Given the description of an element on the screen output the (x, y) to click on. 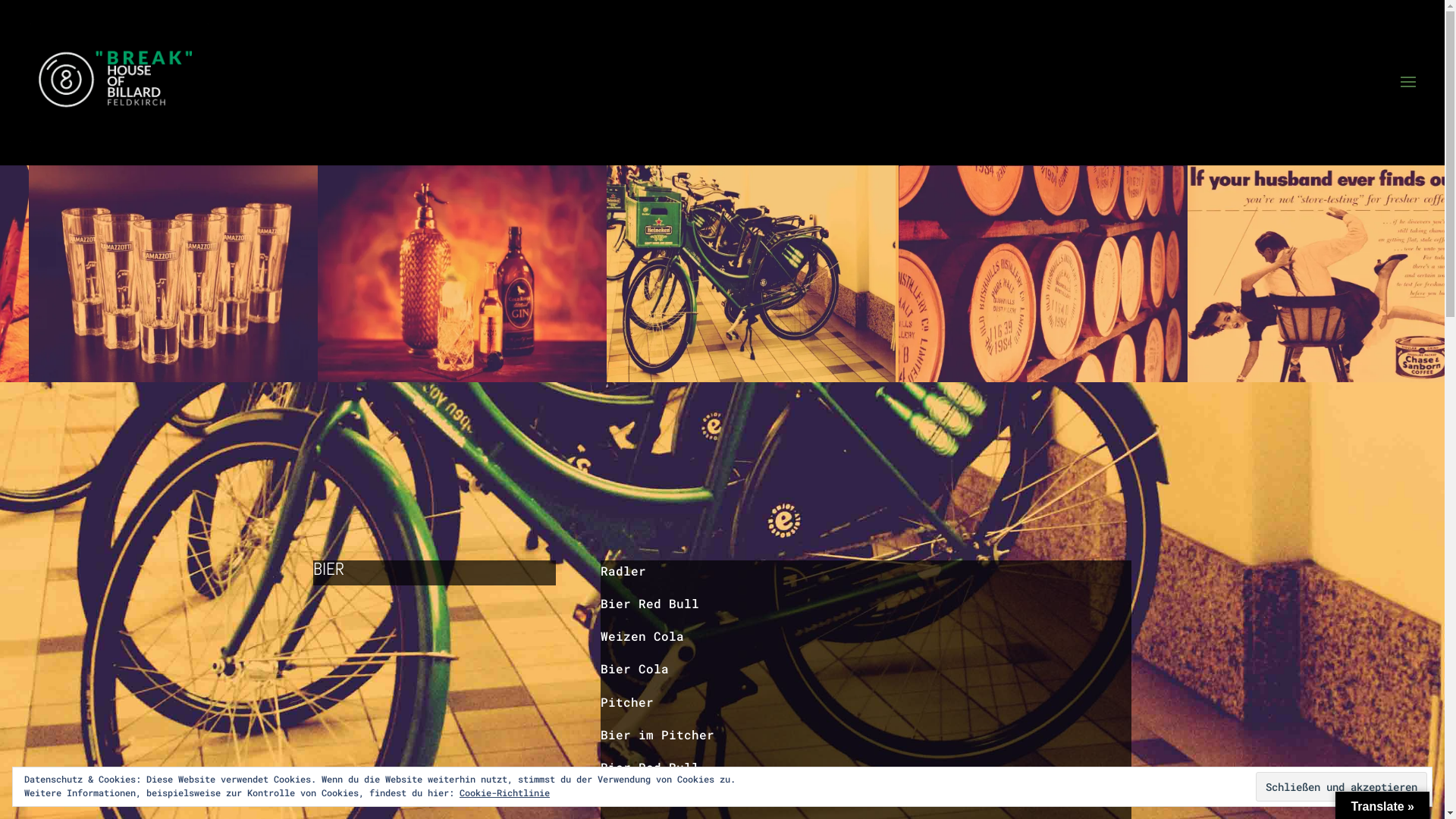
Cookie-Richtlinie Element type: text (504, 792)
